Given the description of an element on the screen output the (x, y) to click on. 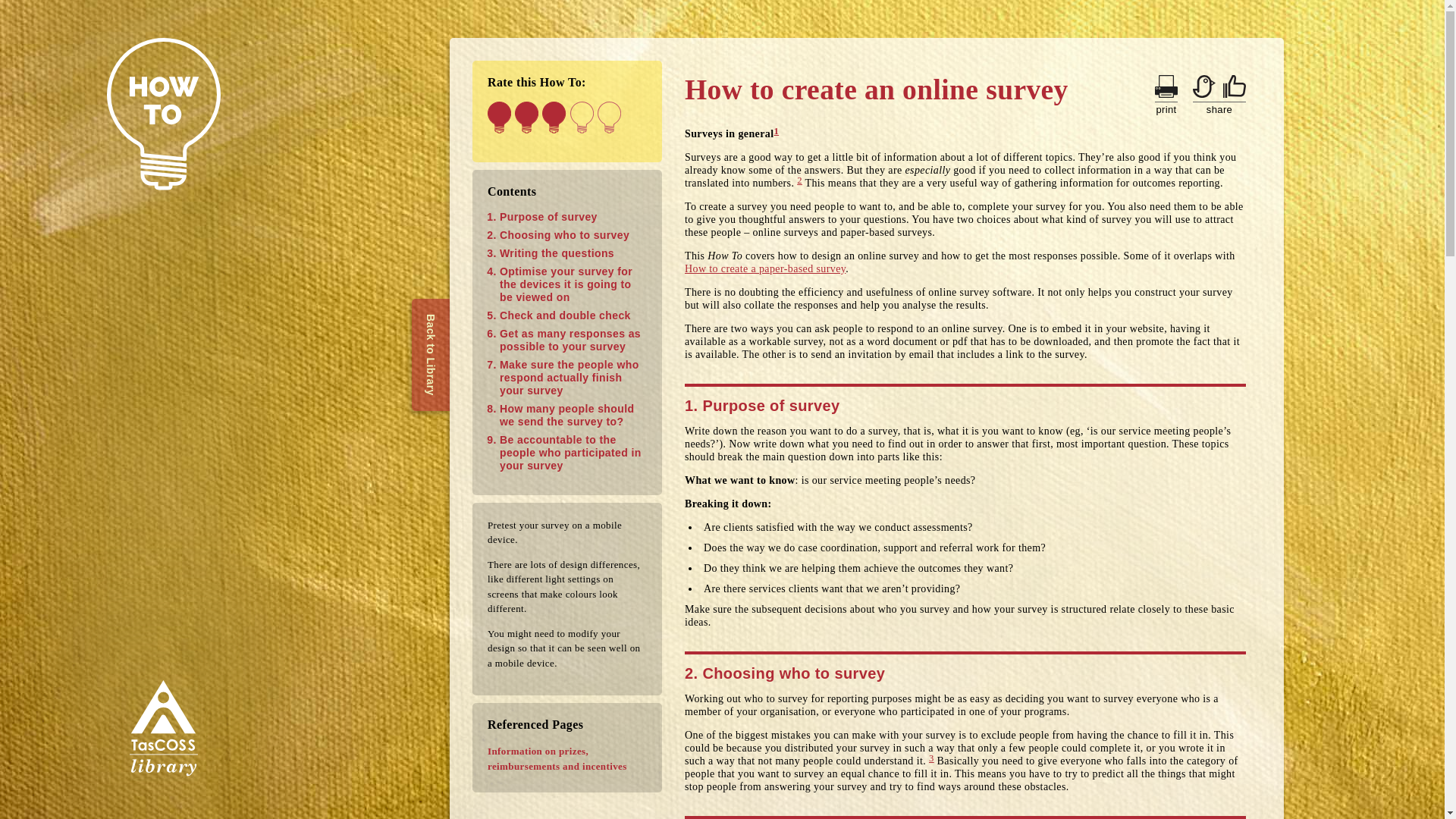
Get as many responses as possible to your survey (569, 339)
Print this page (1165, 86)
Writing the questions (556, 253)
Choosing who to survey (563, 234)
Share this on Facebook (1234, 86)
How to create a paper-based survey (764, 268)
Make sure the people who respond actually finish your survey (569, 377)
How many people should we send the survey to? (566, 414)
Be accountable to the people who participated in your survey (570, 452)
Information on prizes, reimbursements and incentives (566, 758)
